Given the description of an element on the screen output the (x, y) to click on. 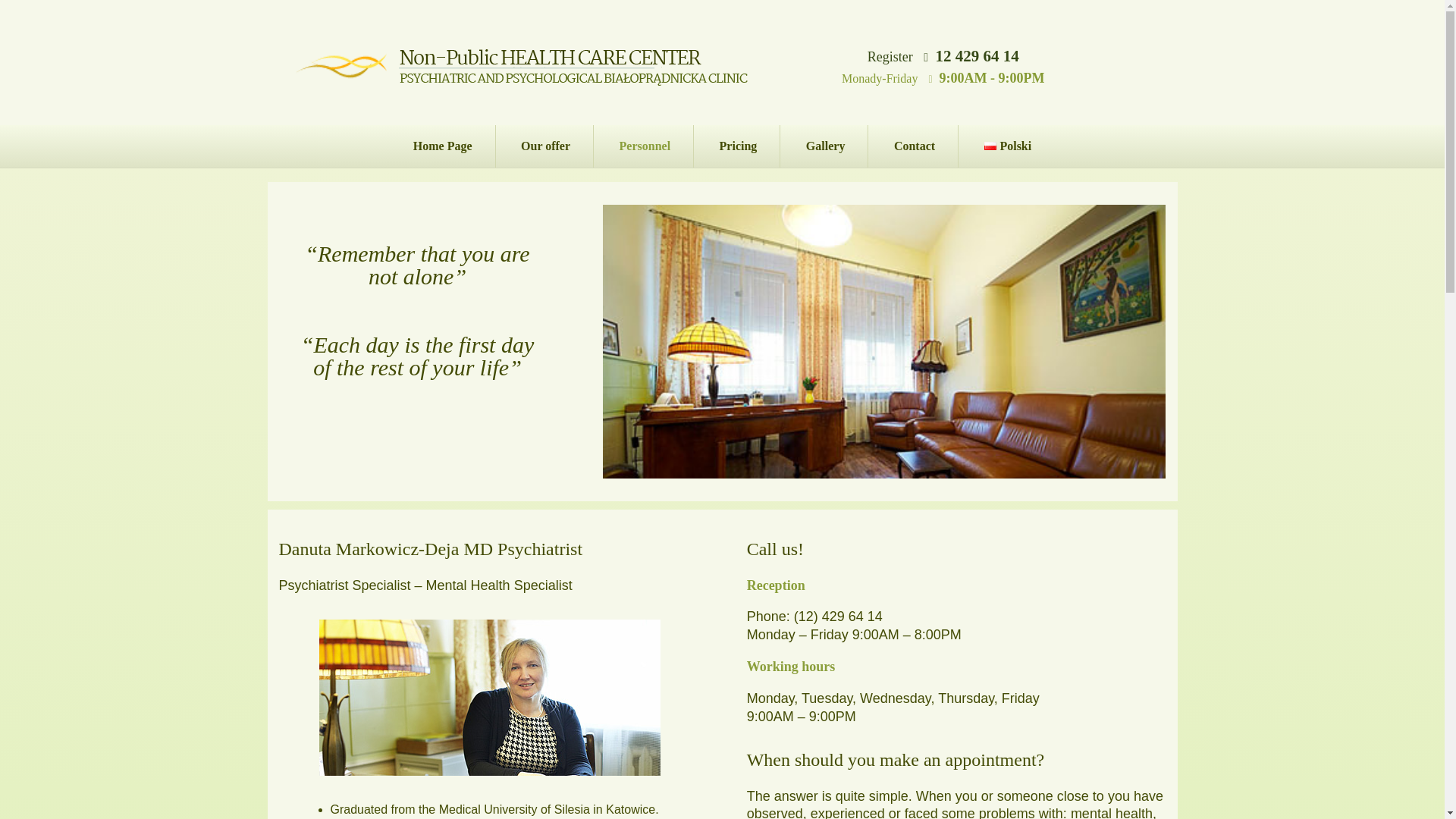
Home Page (443, 146)
Pricing (738, 146)
Personnel (645, 146)
Gallery (826, 146)
Contact (914, 146)
Our offer (545, 146)
12 429 64 14 (977, 55)
Polski (1007, 146)
